Given the description of an element on the screen output the (x, y) to click on. 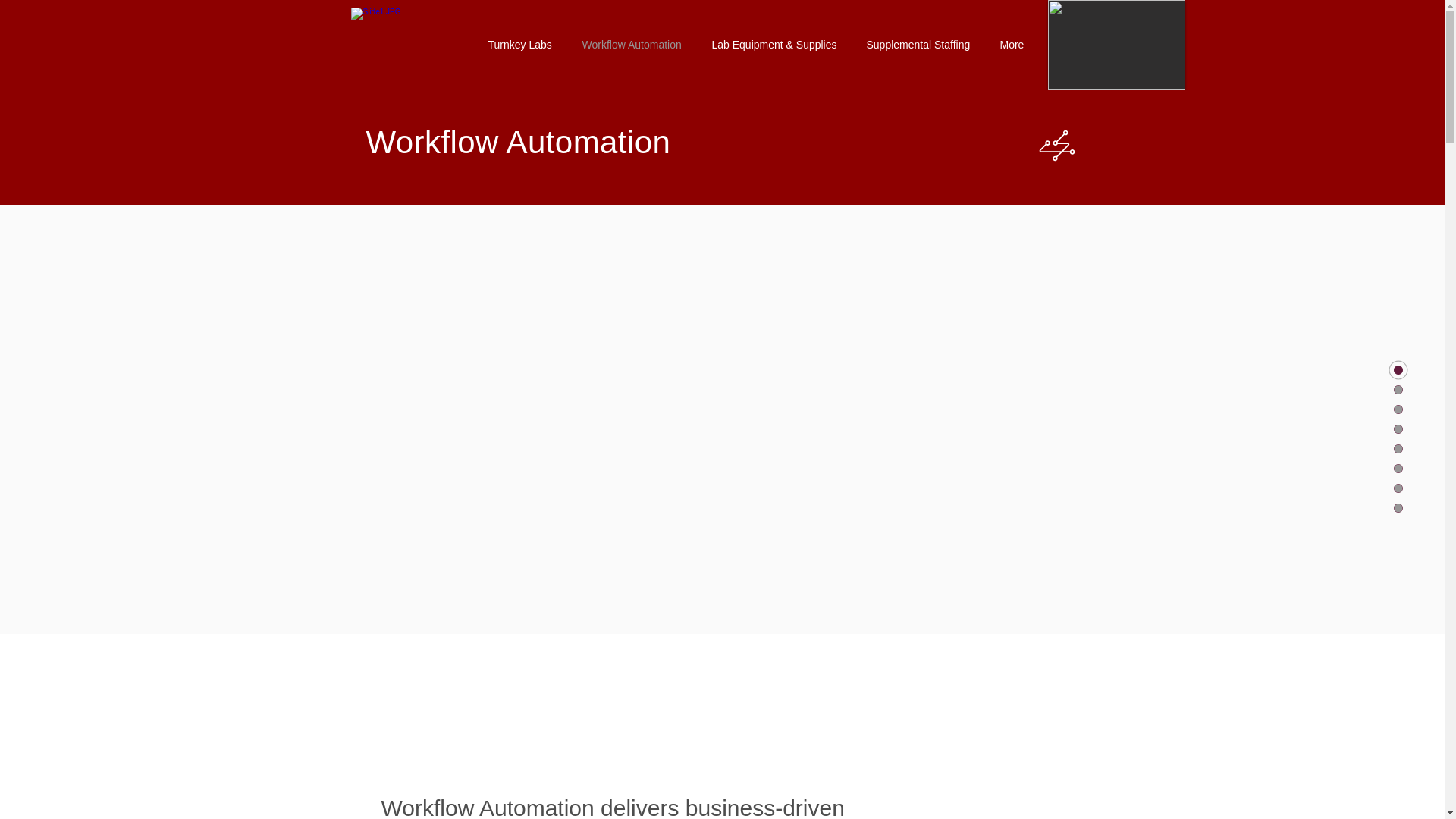
Turnkey Labs (523, 45)
Workflow Automation (635, 45)
Supplemental Staffing (922, 45)
